Given the description of an element on the screen output the (x, y) to click on. 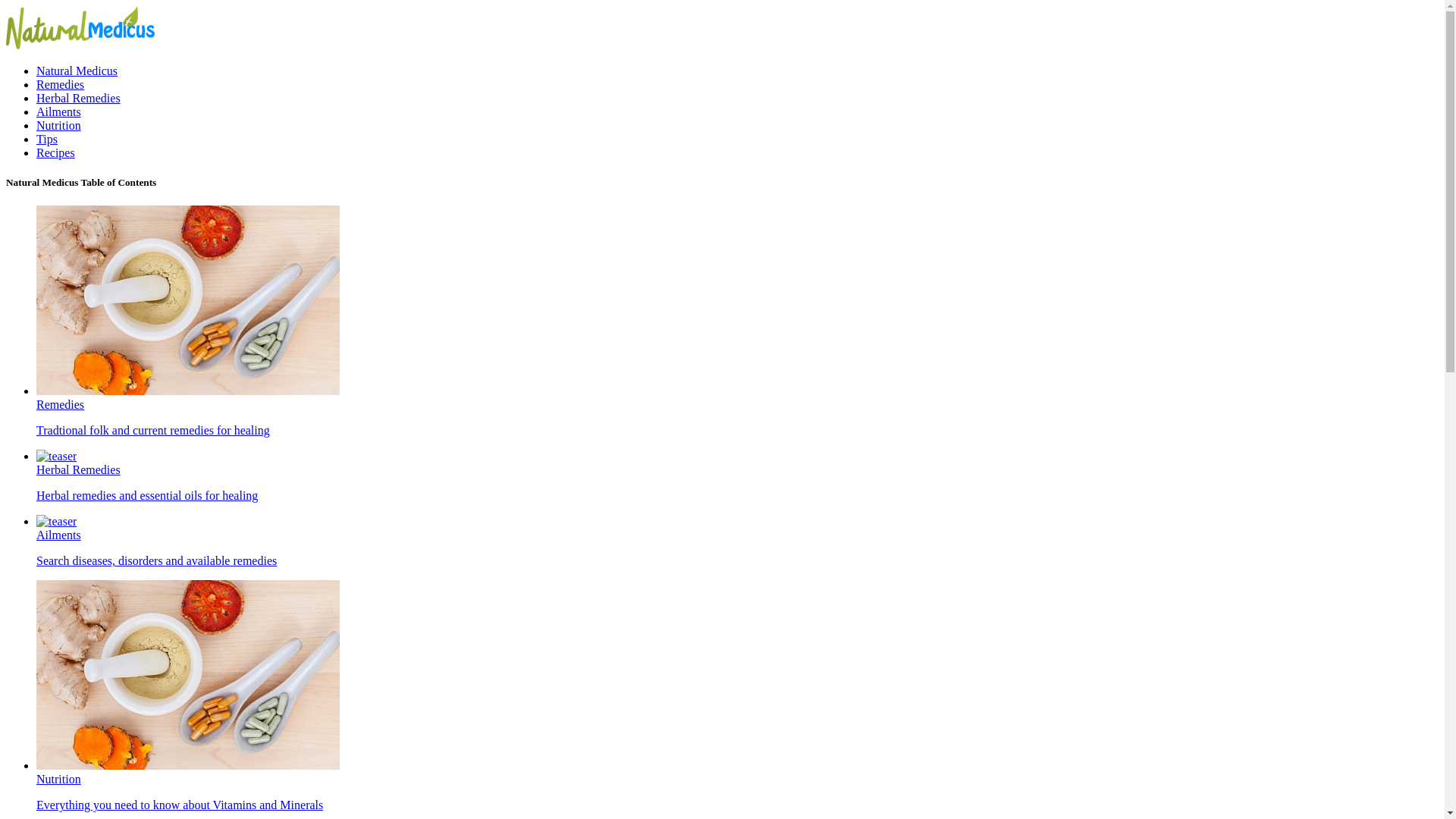
Ailments (58, 111)
Nutrition (58, 124)
Natural Medicus (76, 70)
Tips (47, 138)
Remedies (60, 83)
Recipes (55, 152)
Herbal Remedies (78, 97)
